Given the description of an element on the screen output the (x, y) to click on. 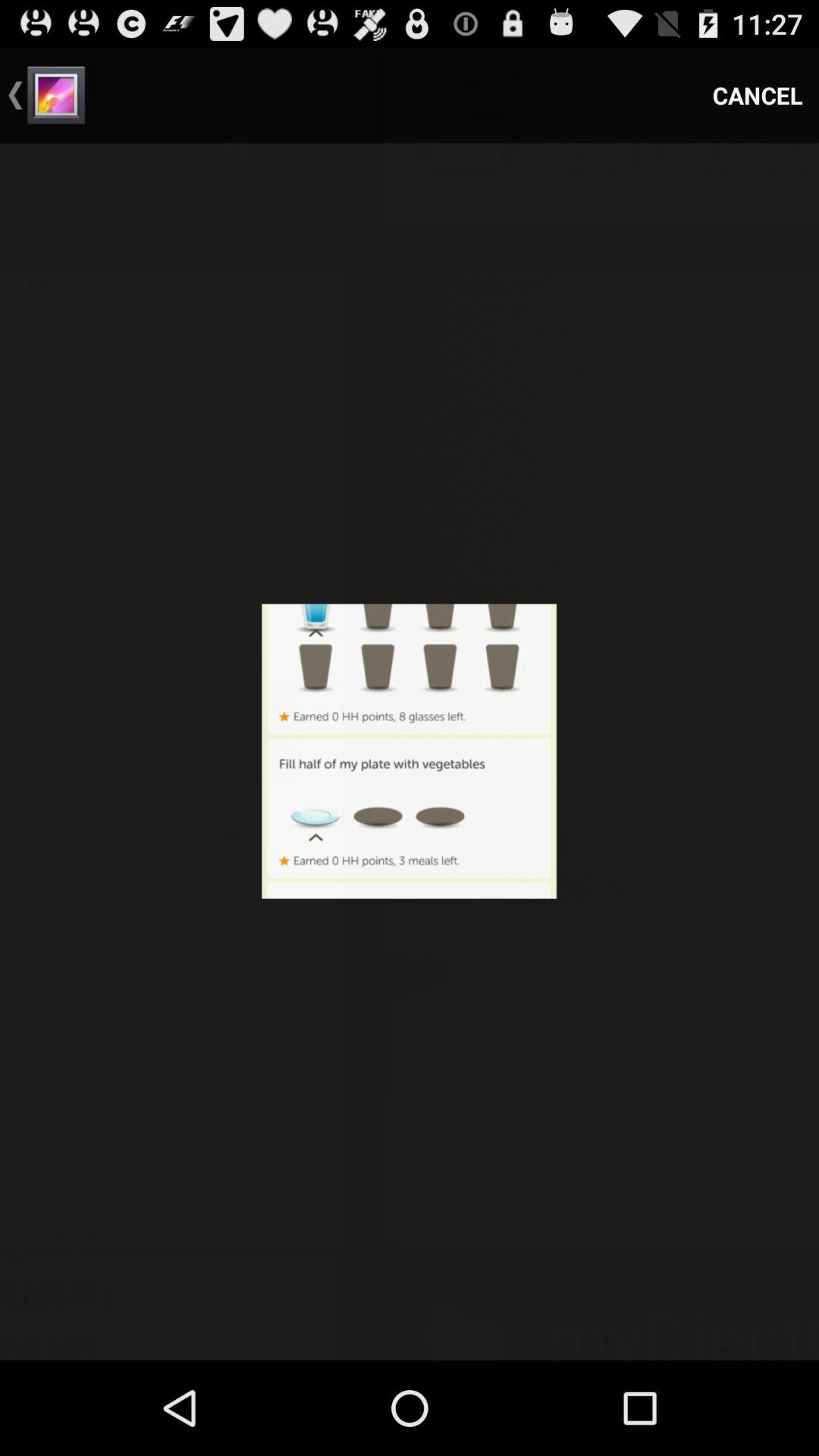
jump to cancel item (757, 95)
